Given the description of an element on the screen output the (x, y) to click on. 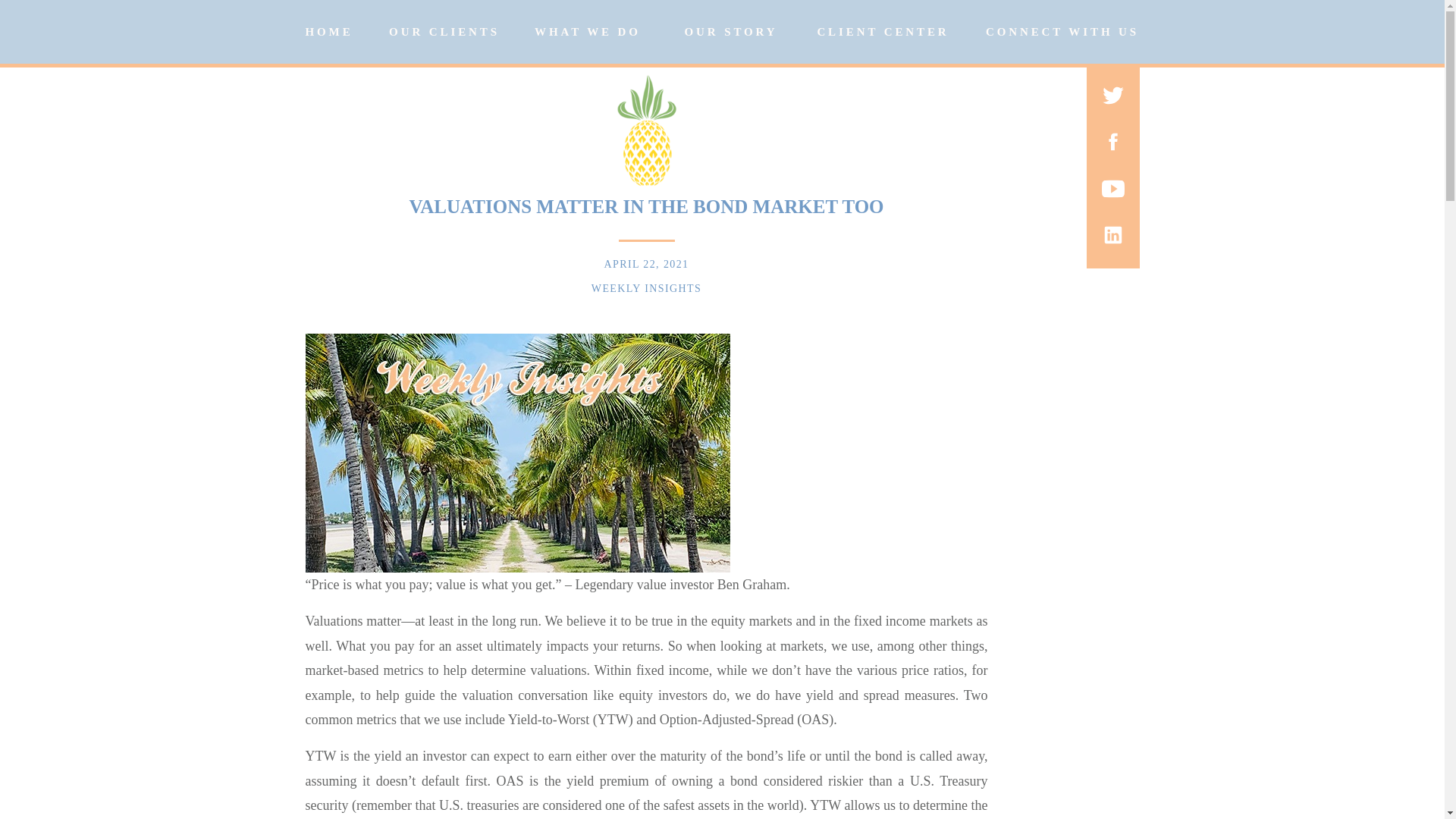
CONNECT WITH US (1061, 31)
WHAT WE DO (586, 31)
WEEKLY INSIGHTS (646, 288)
OUR CLIENTS (444, 31)
HOME (328, 32)
OUR STORY (730, 31)
CLIENT CENTER (881, 31)
